Given the description of an element on the screen output the (x, y) to click on. 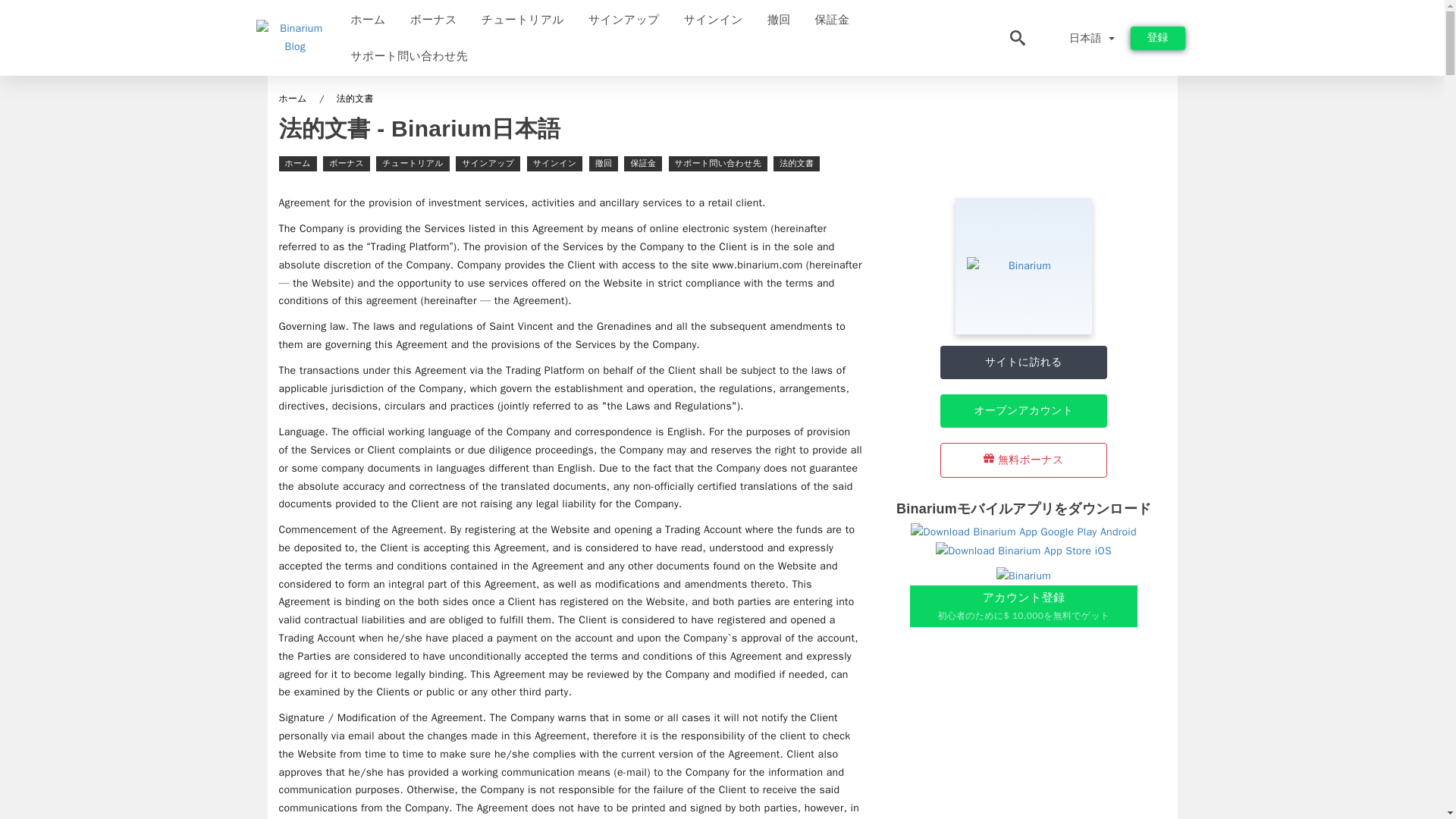
Binarium Blog (95, 18)
binariumblog.com (87, 18)
search (1328, 18)
